Given the description of an element on the screen output the (x, y) to click on. 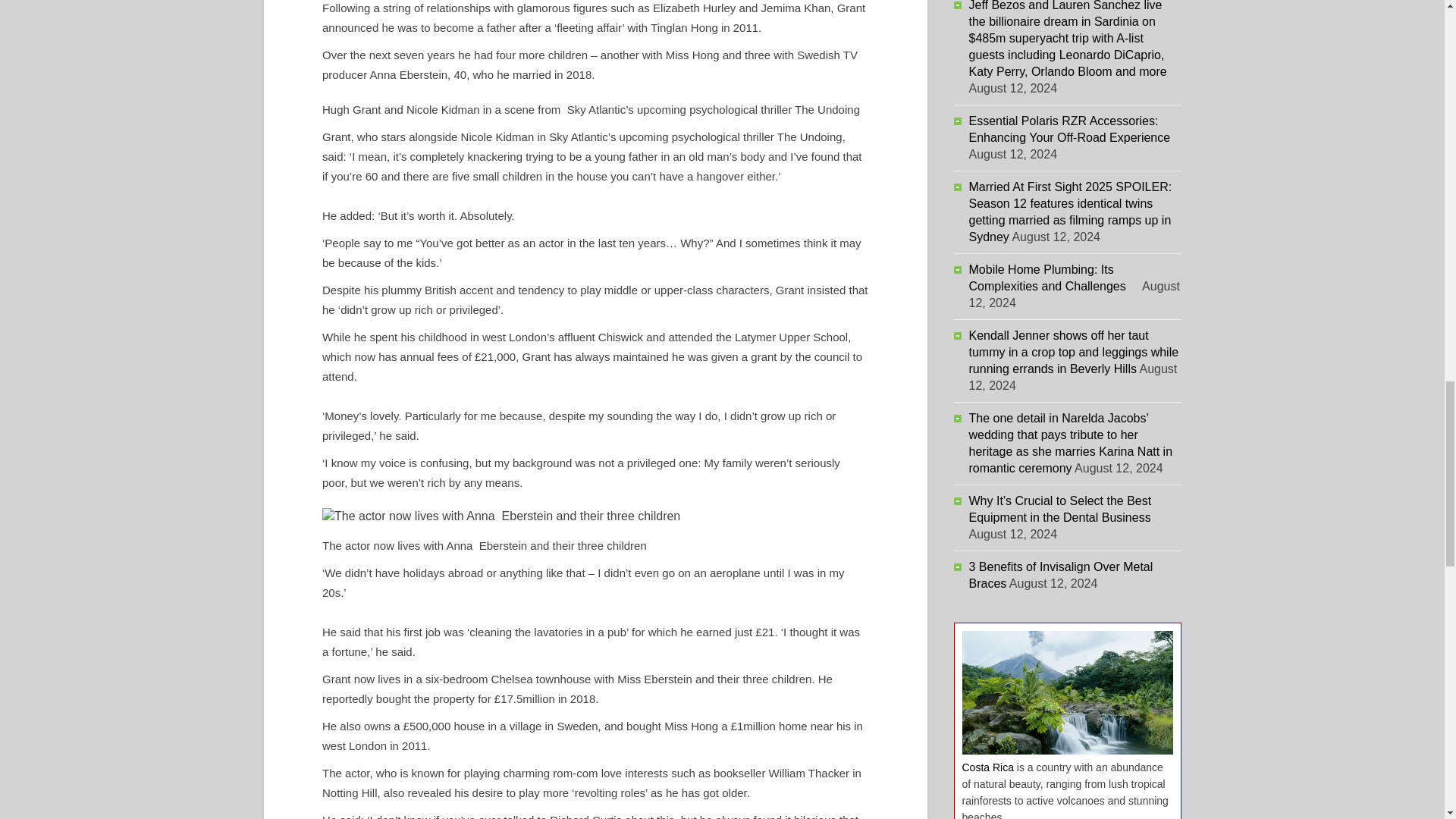
Mobile Home Plumbing: Its Complexities and Challenges     (1054, 277)
Costa Rica (986, 767)
3 Benefits of Invisalign Over Metal Braces (1061, 574)
